Given the description of an element on the screen output the (x, y) to click on. 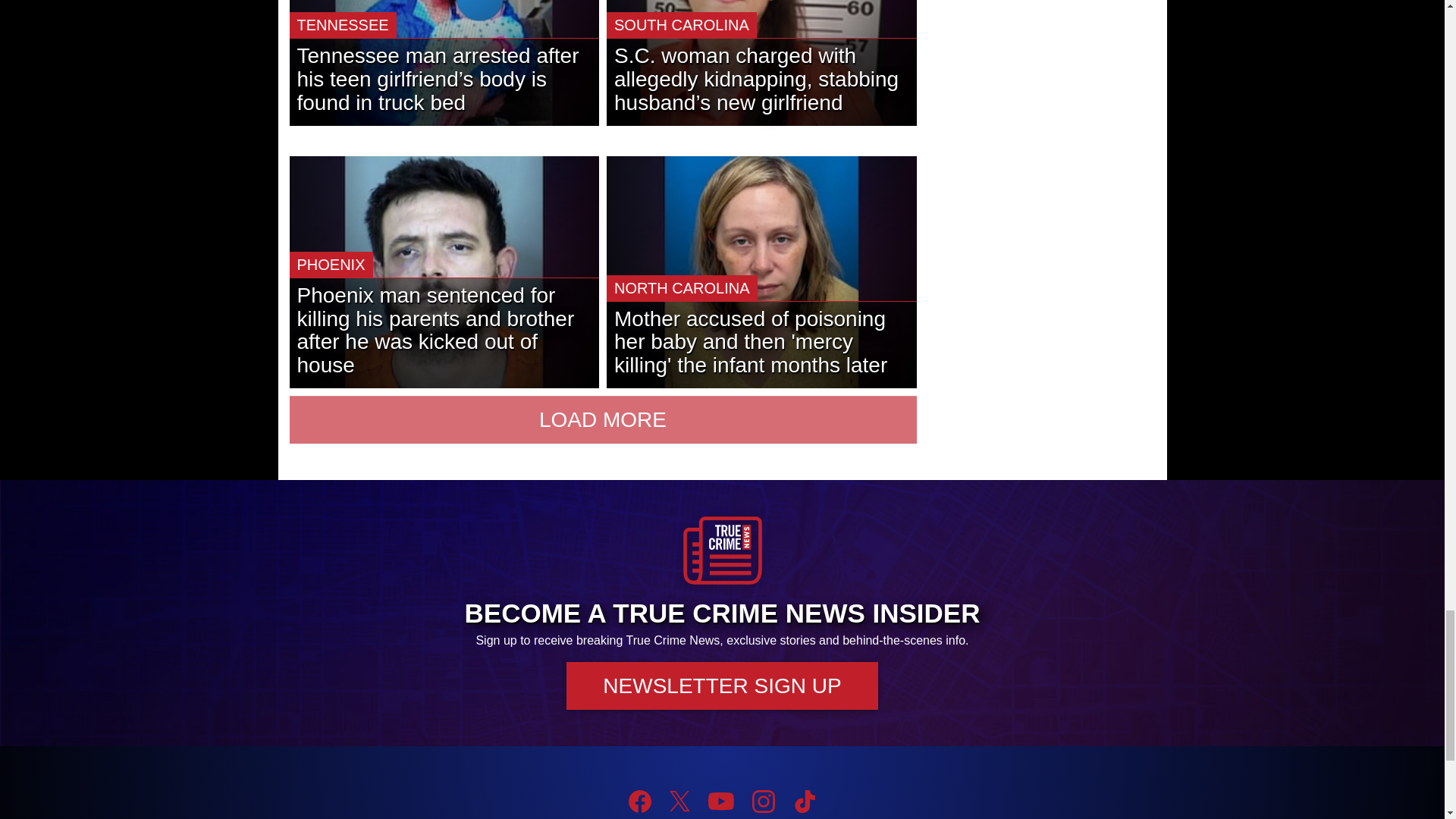
Twitter (679, 801)
Instagram (763, 801)
Facebook (639, 801)
TikTok (804, 801)
YouTube (720, 801)
